Given the description of an element on the screen output the (x, y) to click on. 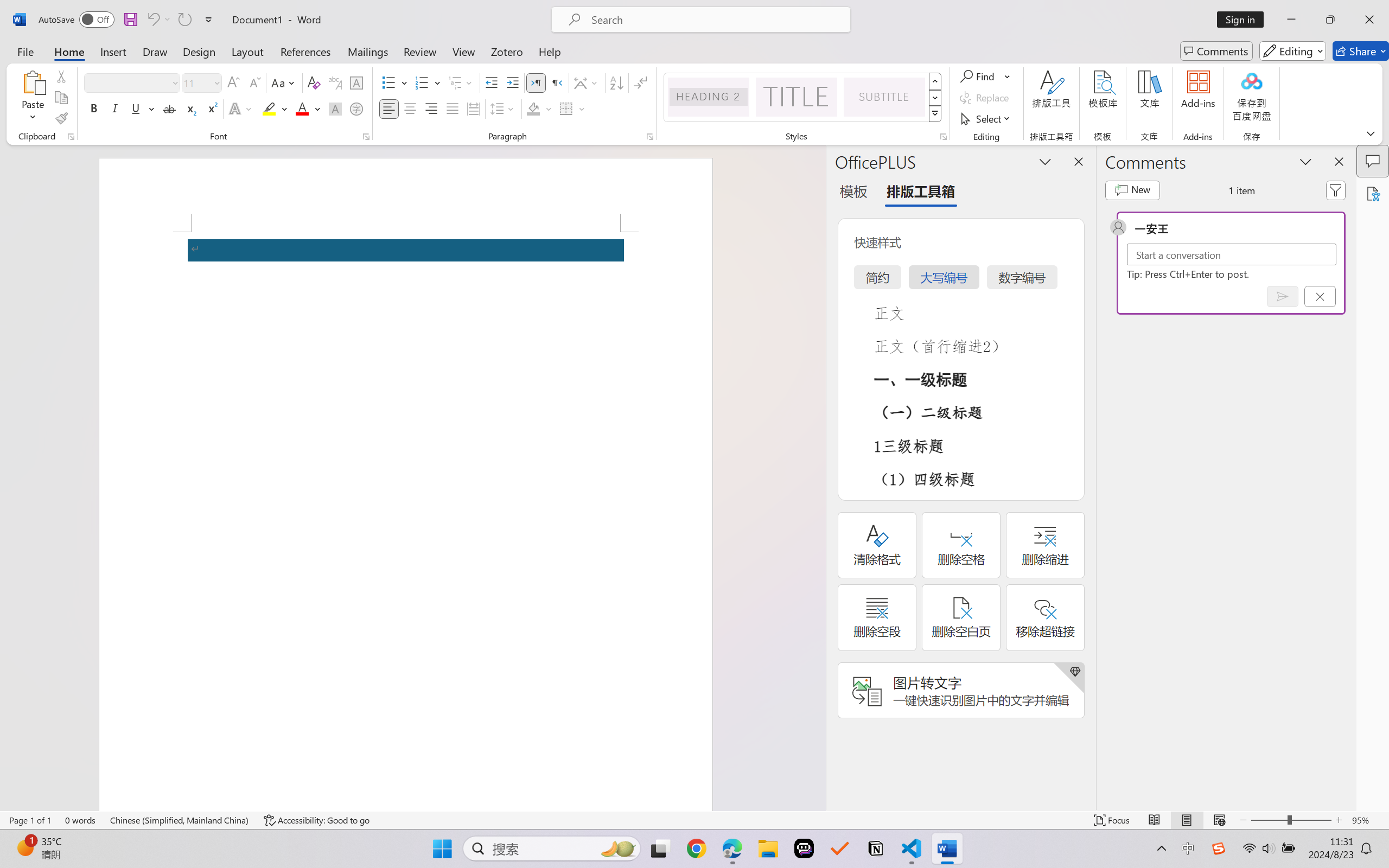
AutomationID: QuickStylesGallery (802, 97)
Repeat Accessibility Checker (184, 19)
